Given the description of an element on the screen output the (x, y) to click on. 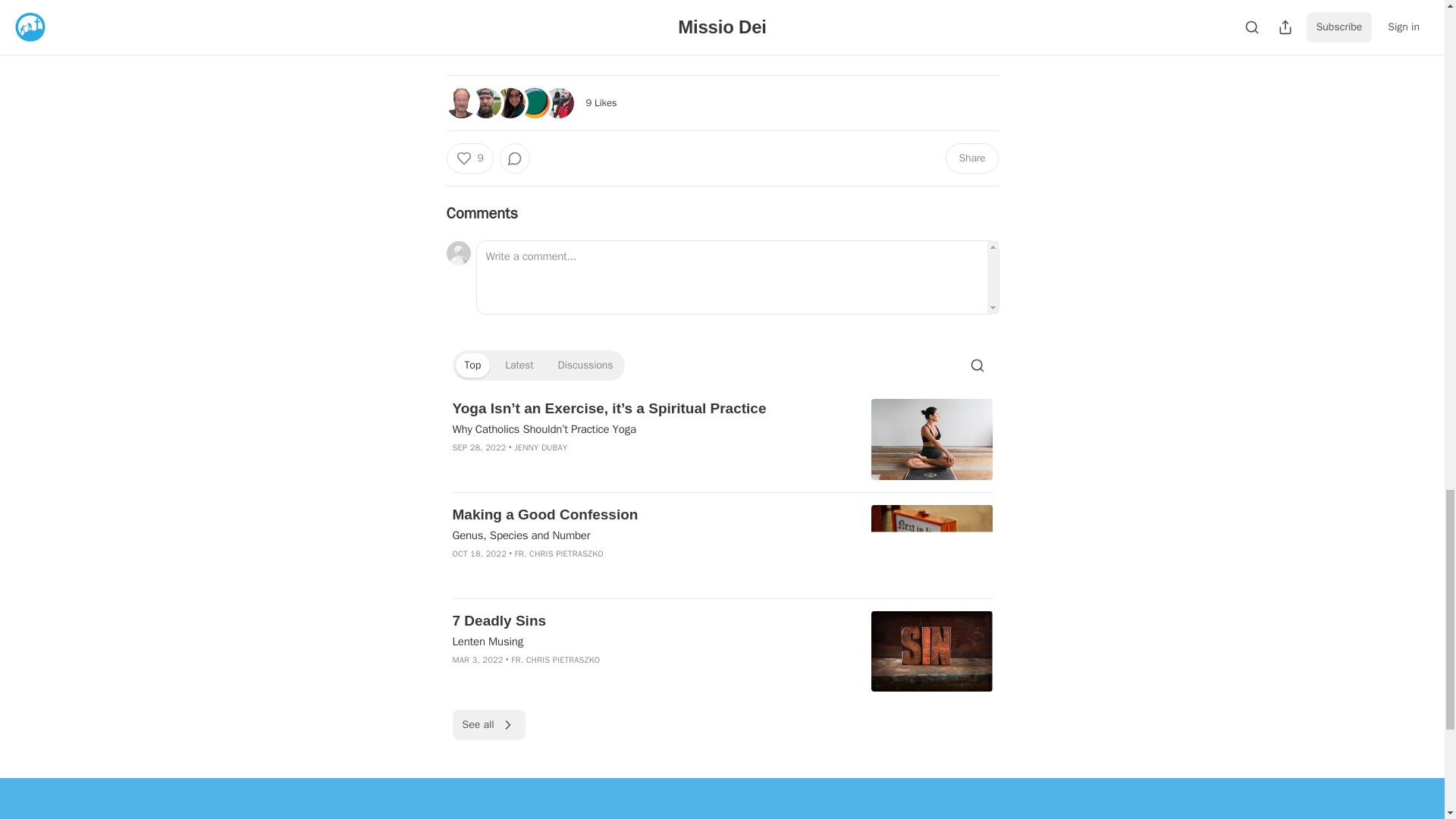
9 (469, 158)
Subscribe (827, 35)
9 Likes (600, 102)
